Given the description of an element on the screen output the (x, y) to click on. 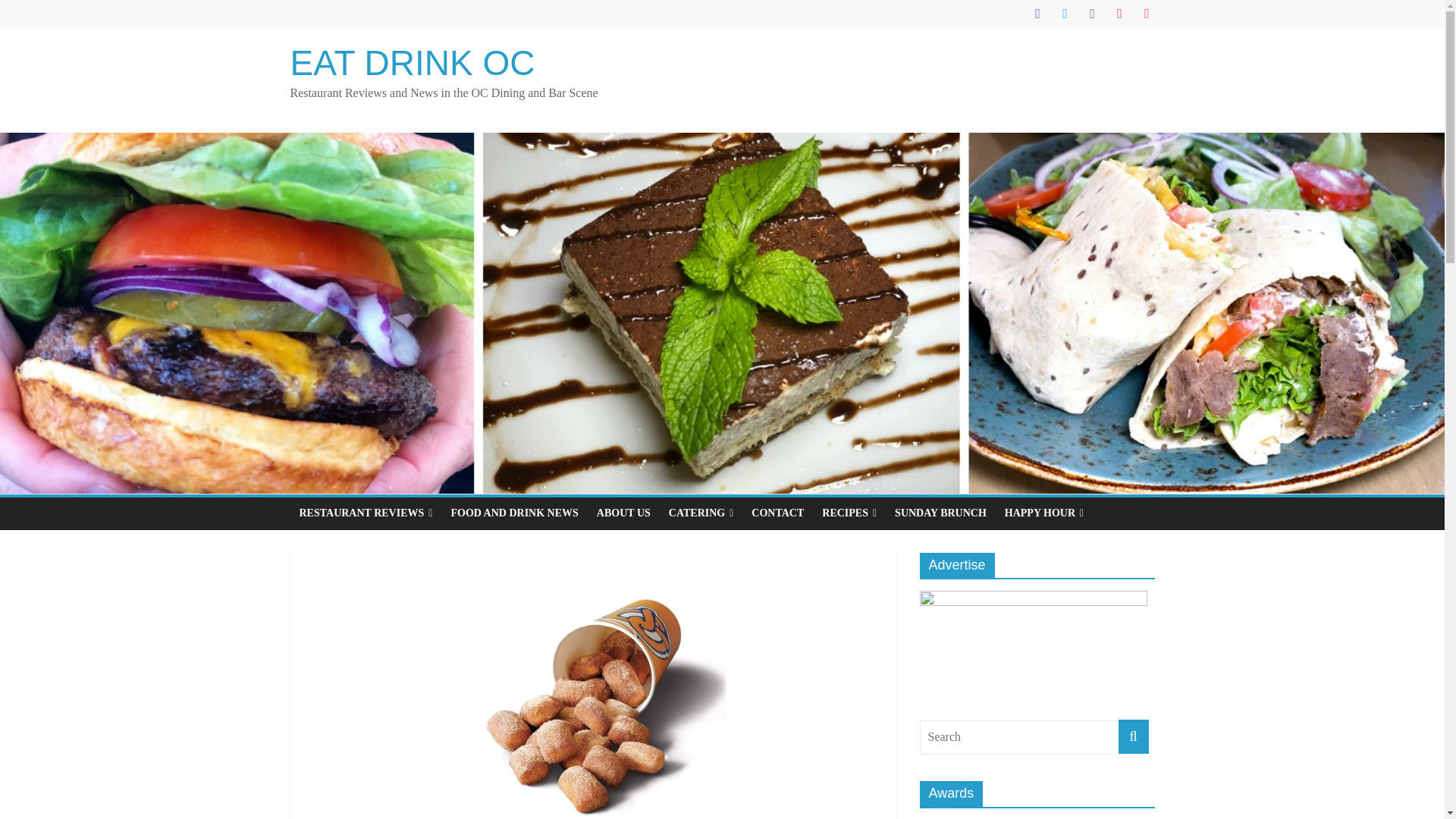
RESTAURANT REVIEWS (365, 513)
ABOUT US (623, 513)
EAT DRINK OC (411, 62)
CATERING (700, 513)
EAT DRINK OC (411, 62)
FOOD AND DRINK NEWS (513, 513)
